Given the description of an element on the screen output the (x, y) to click on. 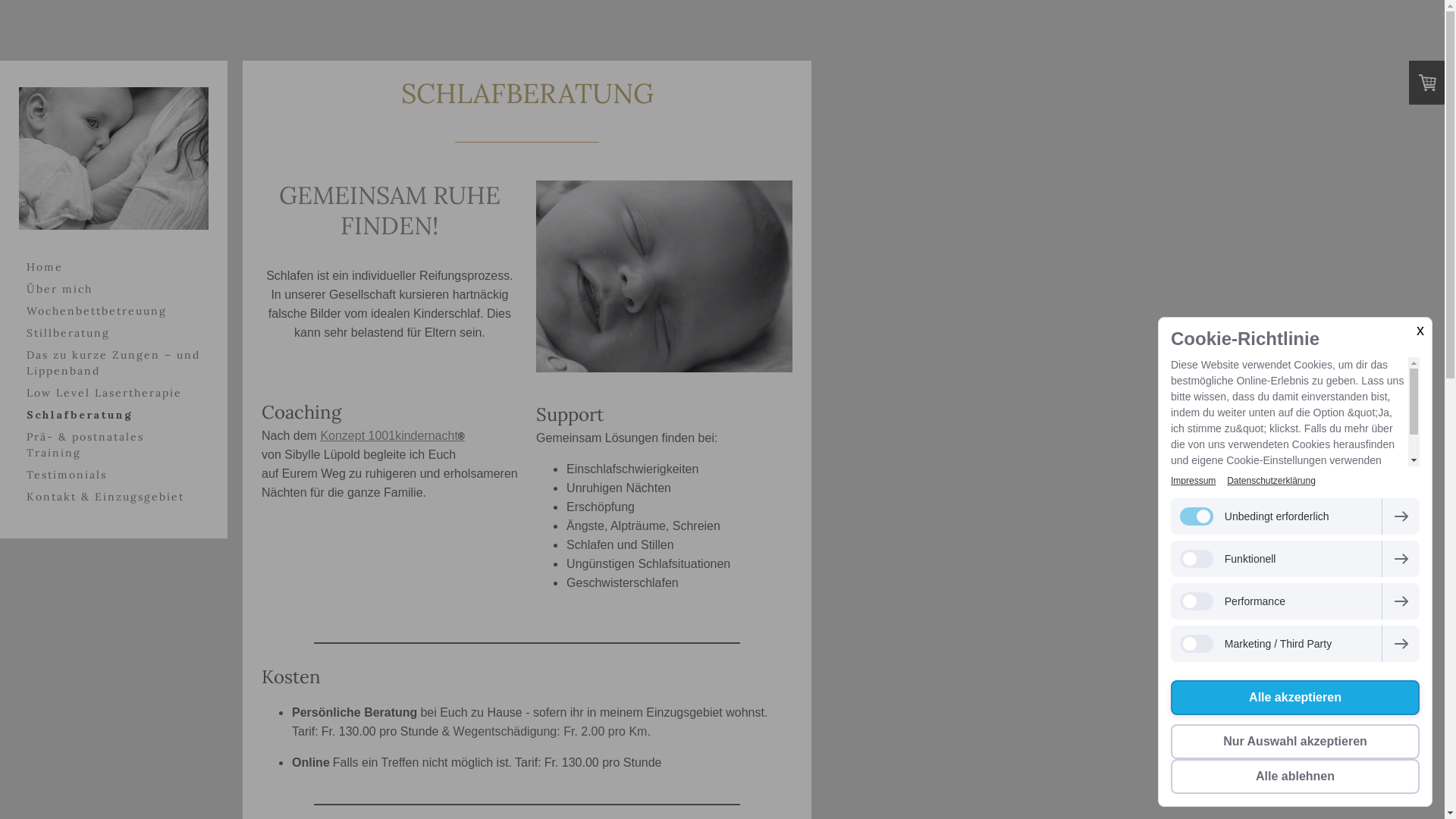
Alle akzeptieren Element type: text (1294, 697)
Alle ablehnen Element type: text (1294, 776)
Nur Auswahl akzeptieren Element type: text (1294, 741)
Low Level Lasertherapie Element type: text (113, 393)
Testimonials Element type: text (113, 475)
Schlafberatung Element type: text (113, 415)
Wochenbettbetreuung Element type: text (113, 311)
Kontakt & Einzugsgebiet Element type: text (113, 497)
Home Element type: text (113, 267)
Stillberatung Element type: text (113, 333)
Impressum Element type: text (1192, 480)
Konzept 1001kindernacht Element type: text (388, 435)
